Given the description of an element on the screen output the (x, y) to click on. 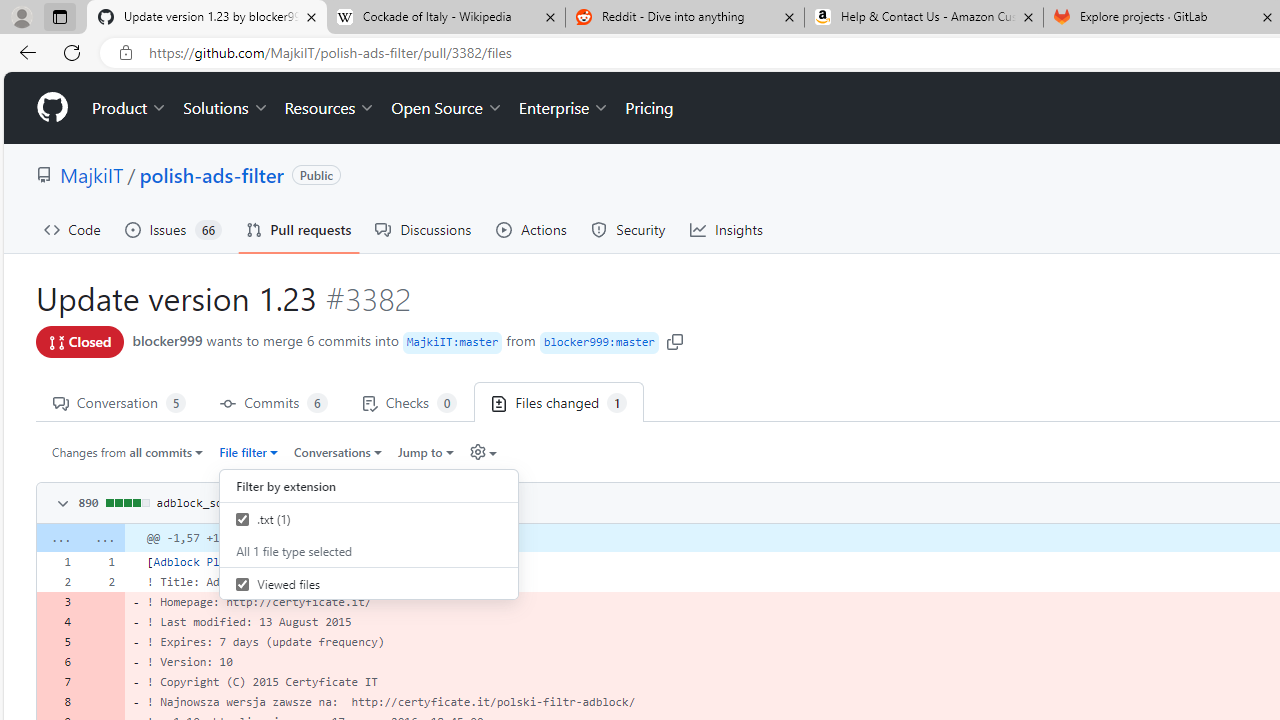
8 (58, 701)
Issues 66 (173, 229)
Insights (726, 229)
adblock_social_filters/adblock_social_list.txt (308, 502)
5 (58, 642)
Security (628, 229)
All 1 file type selected (369, 550)
polish-ads-filter (211, 174)
blocker999 : master (598, 342)
Cockade of Italy - Wikipedia (445, 17)
Enterprise (563, 107)
 Commits 6 (274, 401)
MajkiIT (92, 174)
